Given the description of an element on the screen output the (x, y) to click on. 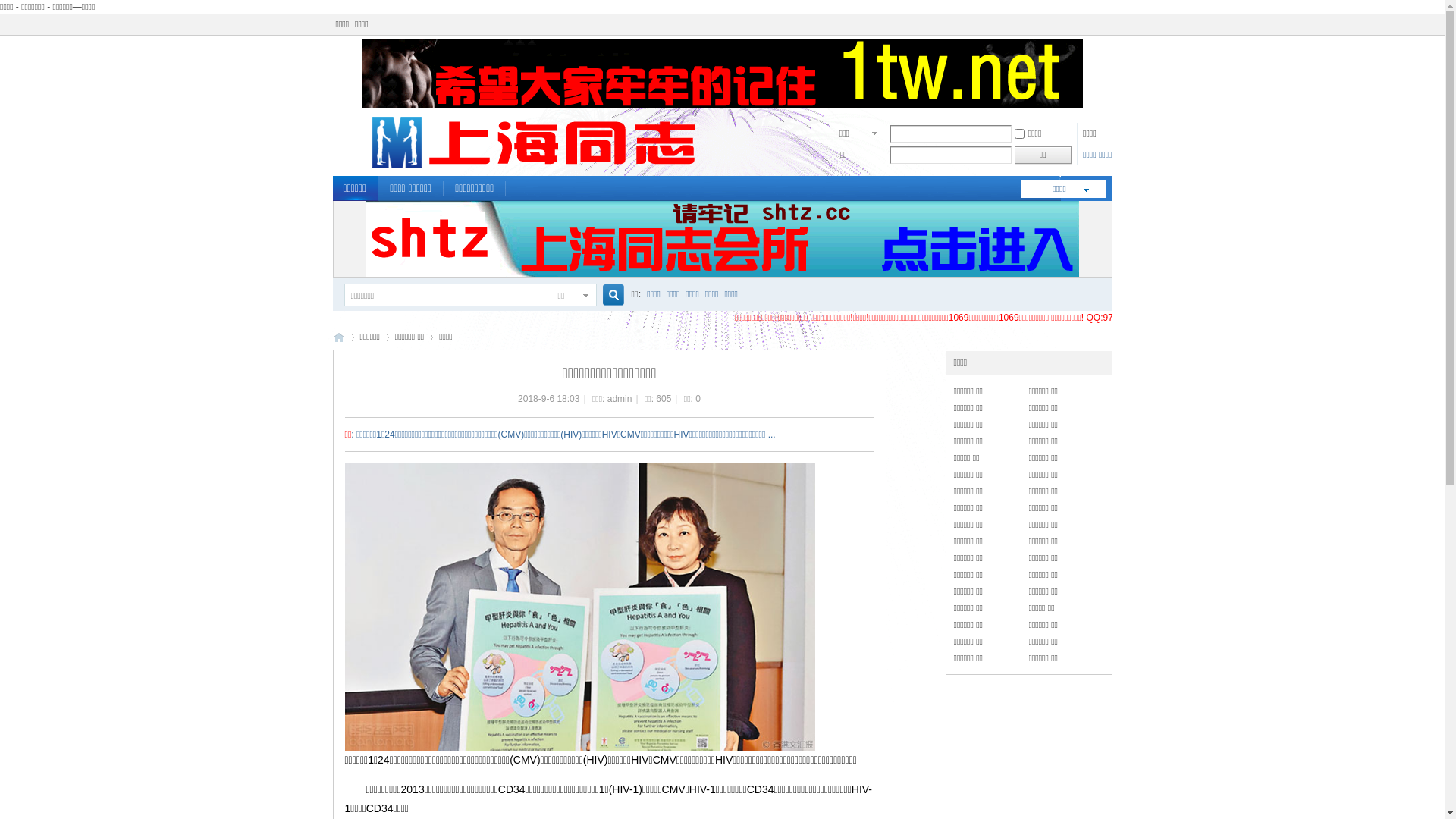
true Element type: text (607, 295)
admin Element type: text (619, 398)
